Given the description of an element on the screen output the (x, y) to click on. 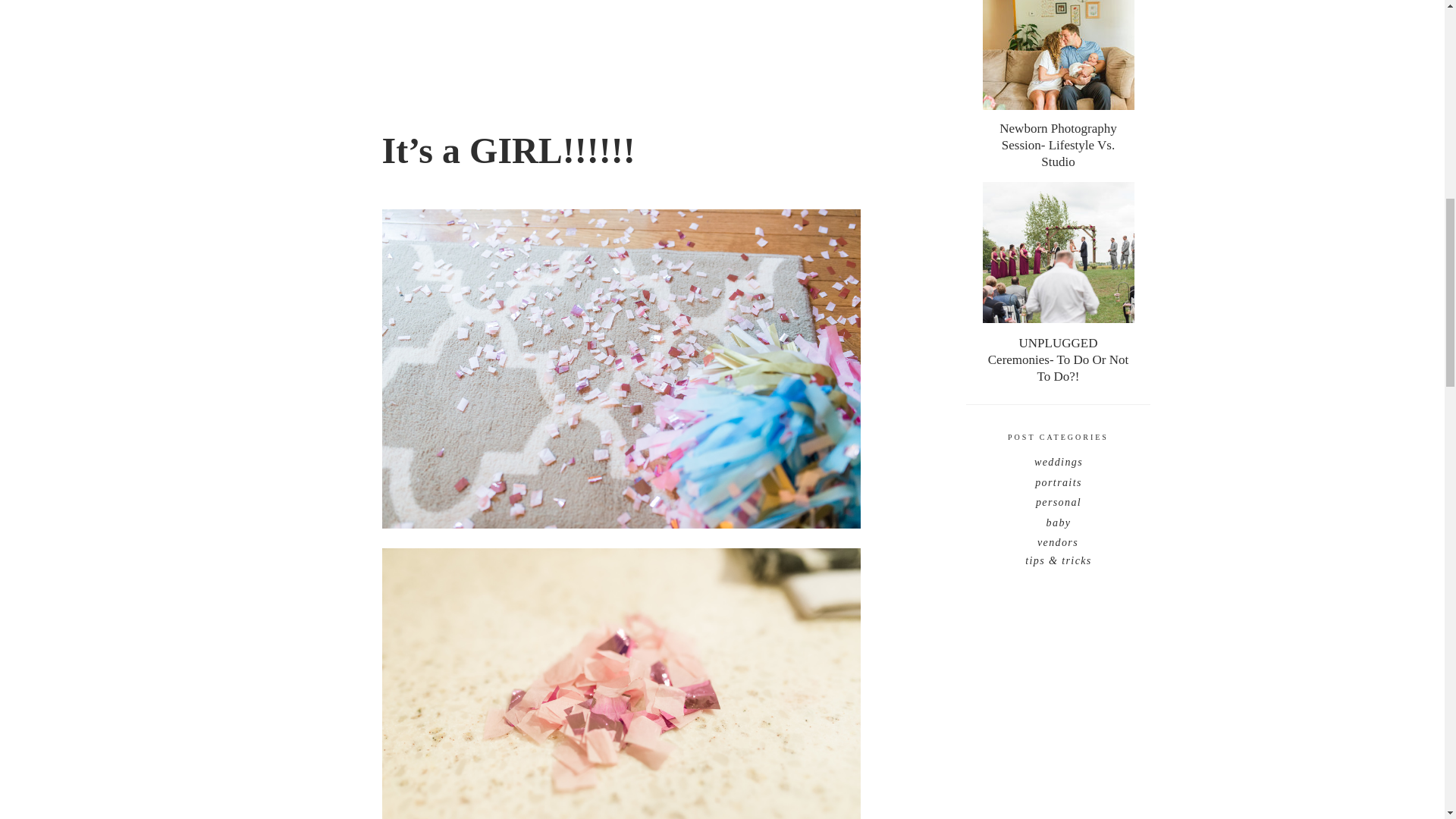
personal (1058, 499)
Newborn Photography Session- Lifestyle Vs. Studio (1058, 138)
baby (1058, 520)
weddings (1058, 459)
UNPLUGGED Ceremonies- To Do Or Not To Do?! (1058, 352)
portraits (1058, 479)
vendors (1058, 540)
